Given the description of an element on the screen output the (x, y) to click on. 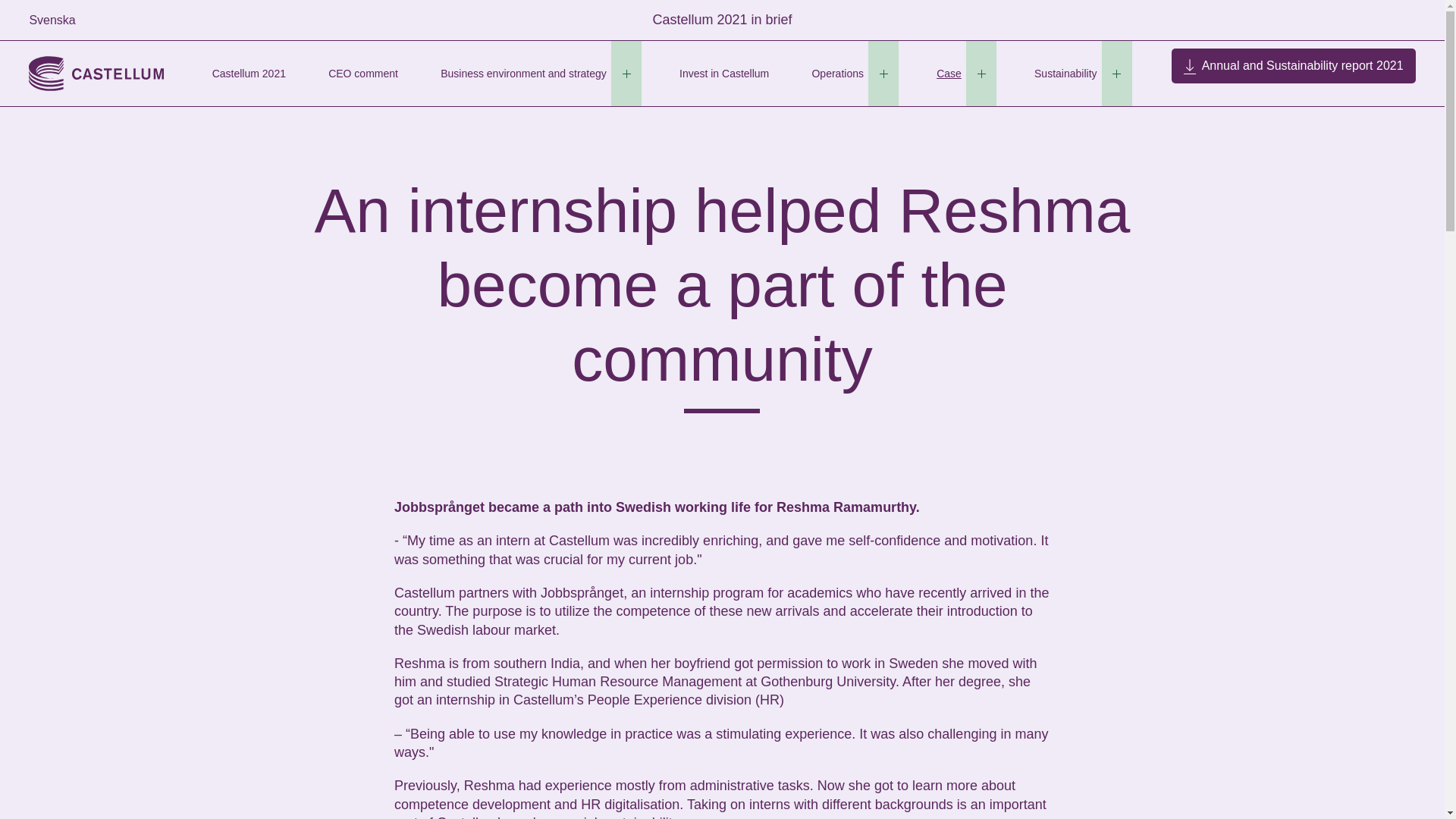
Svenska (52, 19)
Business environment and strategy (523, 73)
CEO comment (363, 73)
Invest in Castellum (724, 73)
Castellum 2021 (247, 73)
Operations (836, 73)
Sustainability (1065, 73)
